Given the description of an element on the screen output the (x, y) to click on. 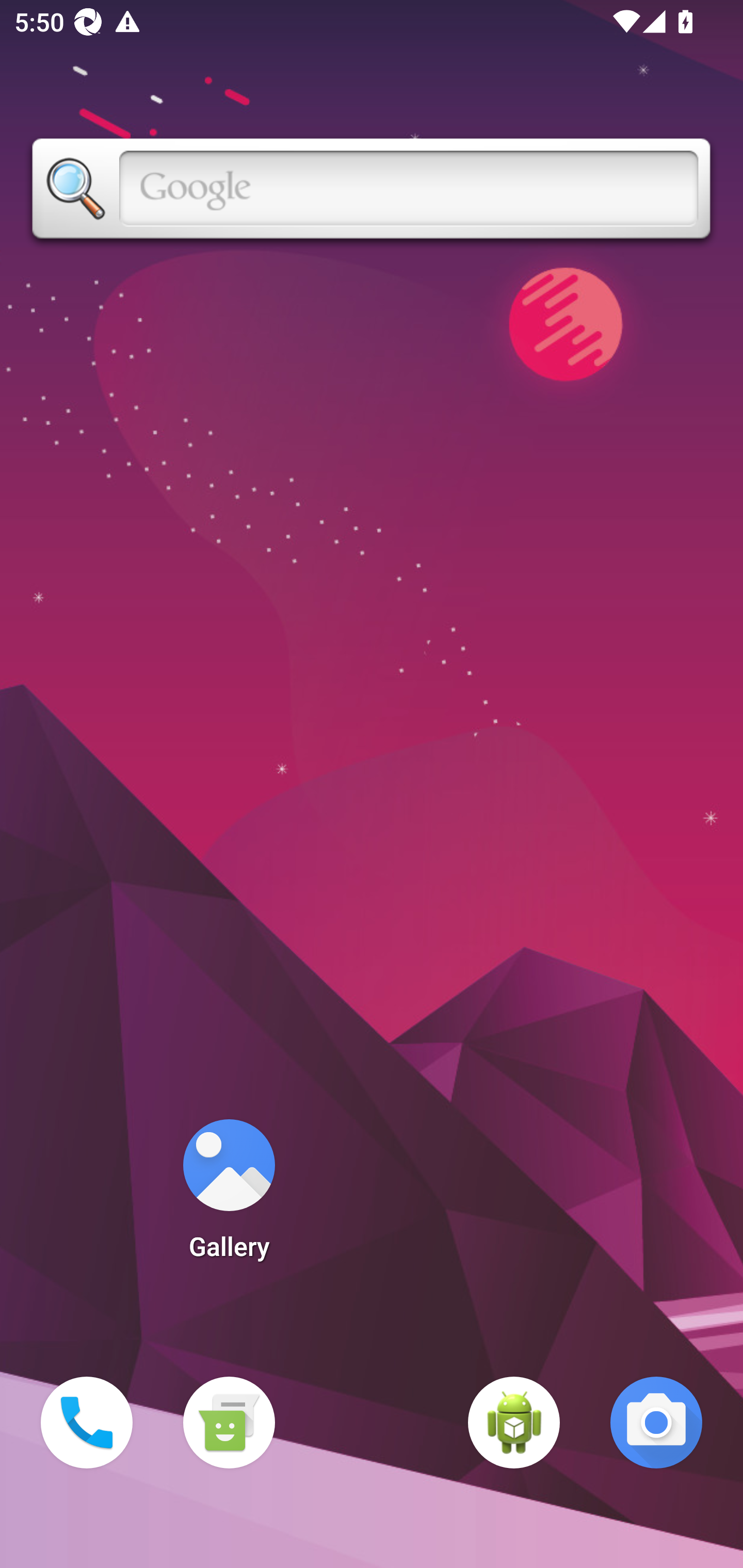
Gallery (228, 1195)
Phone (86, 1422)
Messaging (228, 1422)
WebView Browser Tester (513, 1422)
Camera (656, 1422)
